Given the description of an element on the screen output the (x, y) to click on. 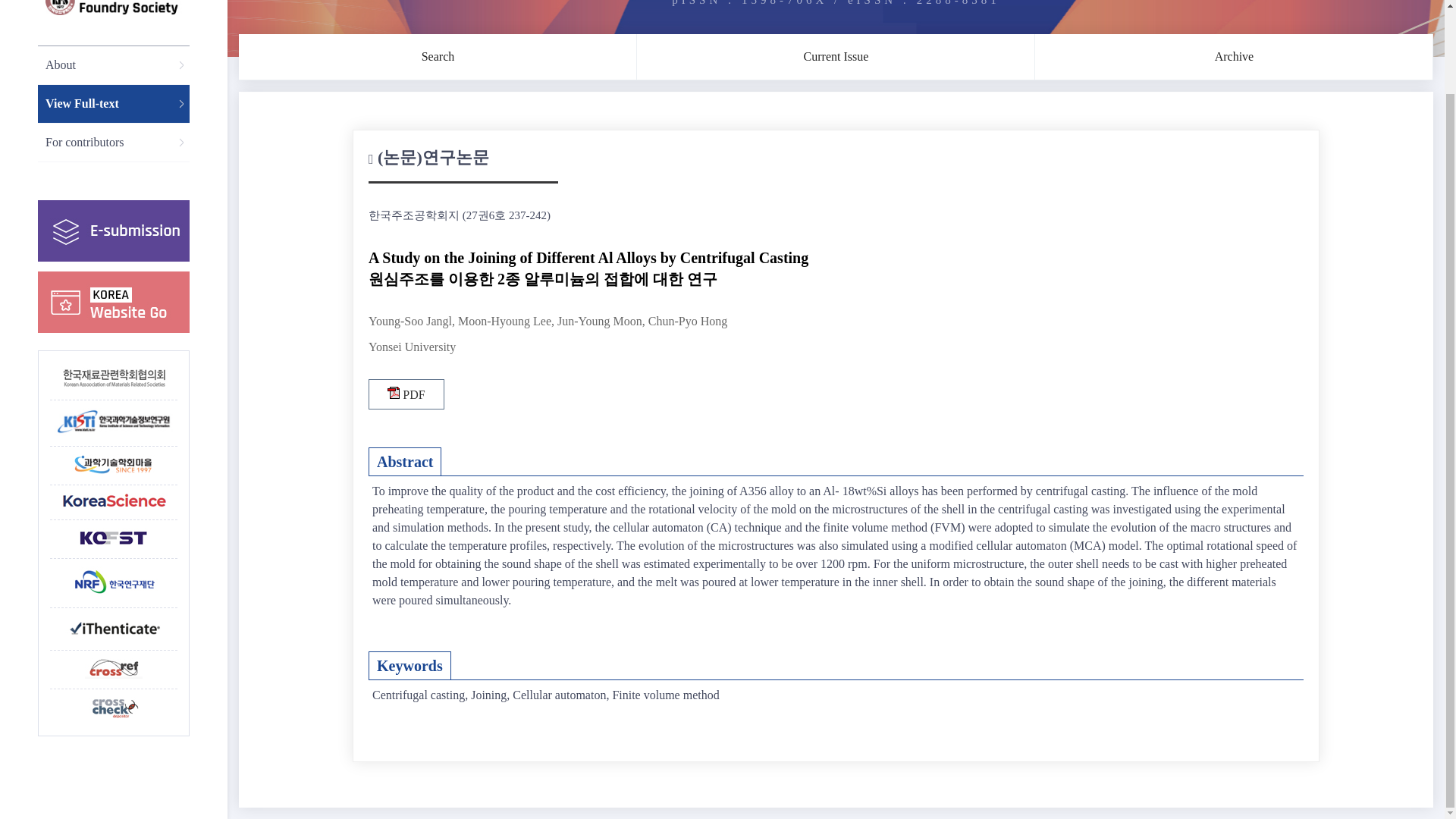
Go to Home (113, 9)
Search (437, 56)
Current Issue (836, 56)
PDF (406, 394)
Archive (1233, 56)
